Given the description of an element on the screen output the (x, y) to click on. 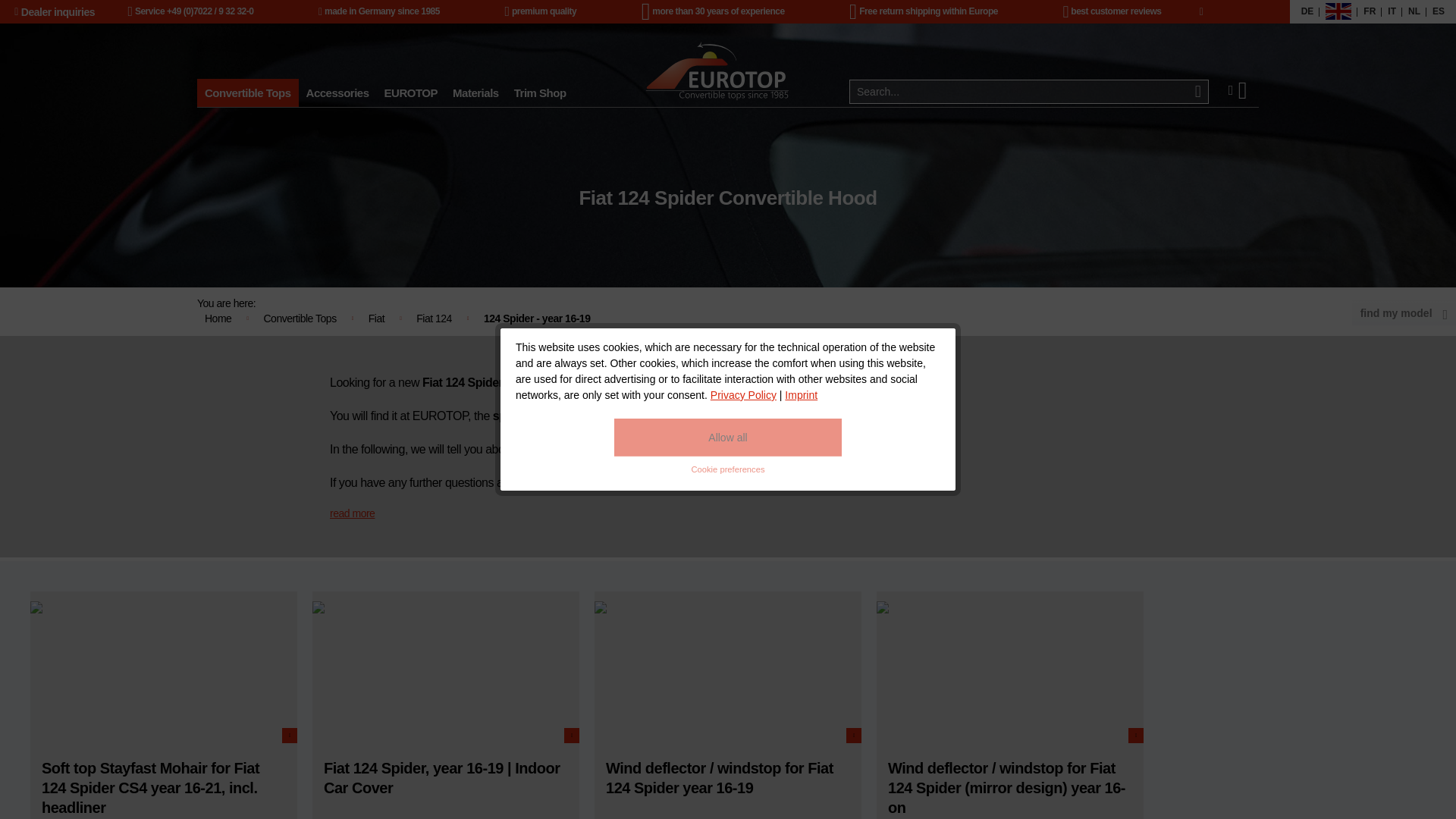
EUROTOP (411, 92)
NL (1414, 11)
Convertible Tops (247, 92)
Convertible Tops (247, 92)
EUROTOP ENGLISCH (1337, 11)
Materials (475, 92)
EUROTOP (411, 92)
Dealer inquiries (54, 11)
Trim Shop (539, 92)
Accessories (337, 92)
